Given the description of an element on the screen output the (x, y) to click on. 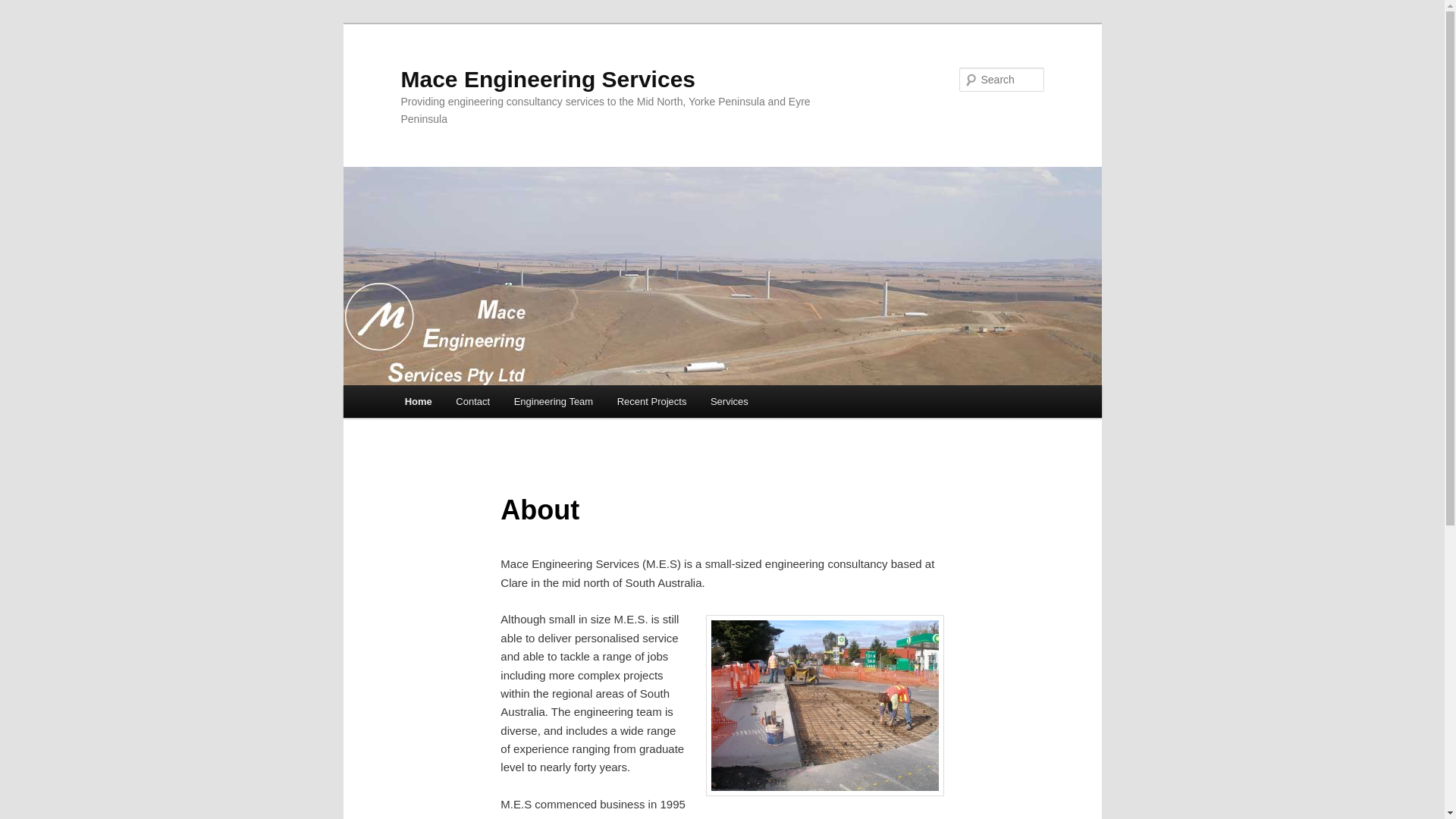
Mace Engineering Services Element type: text (547, 78)
Home Element type: text (418, 401)
Skip to primary content Element type: text (472, 404)
Contact Element type: text (473, 401)
Skip to secondary content Element type: text (479, 404)
Engineering Team Element type: text (553, 401)
Recent Projects Element type: text (651, 401)
Services Element type: text (728, 401)
Search Element type: text (24, 8)
